Given the description of an element on the screen output the (x, y) to click on. 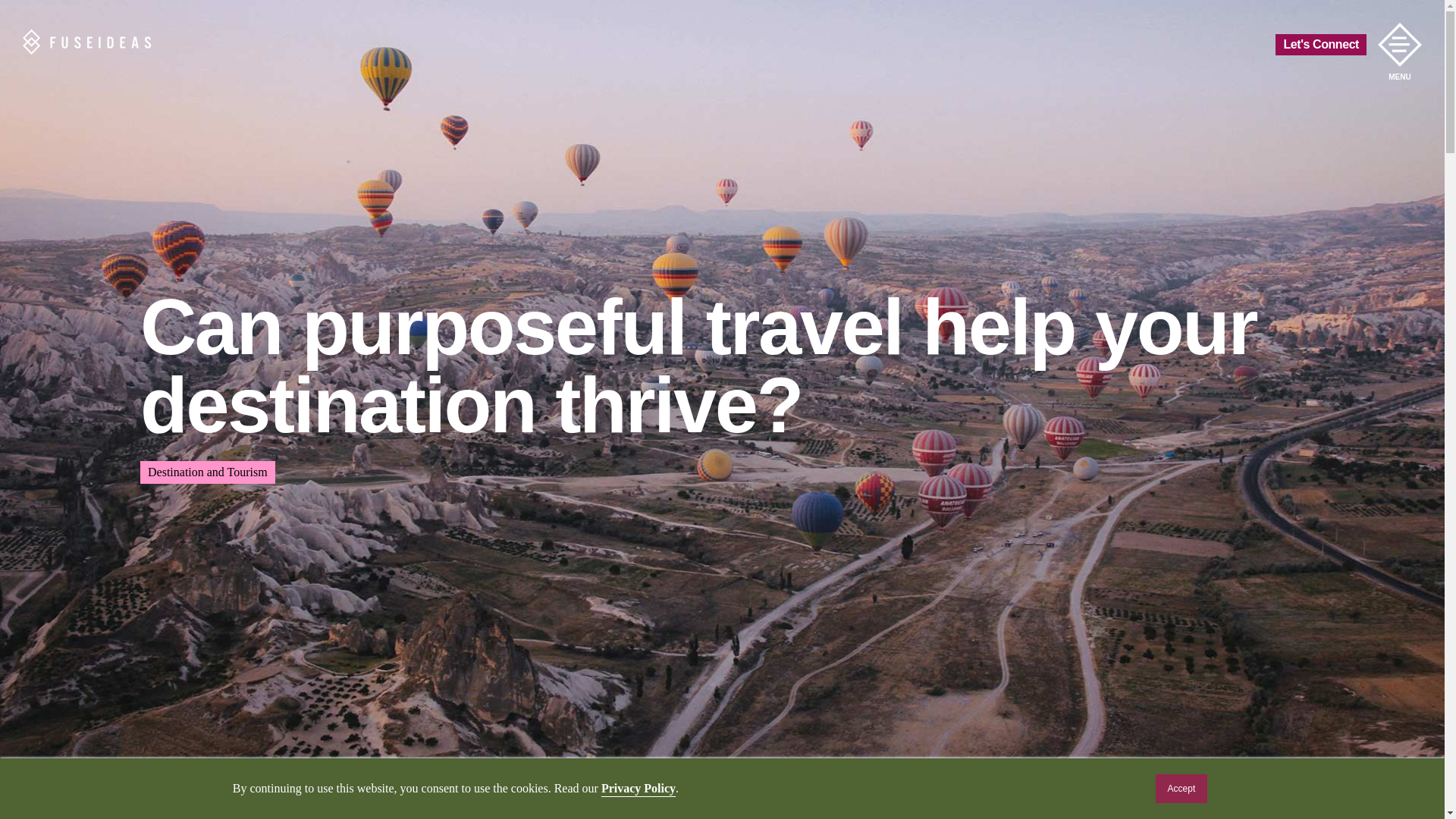
Let's Connect (1321, 44)
Privacy Policy (638, 788)
Destination and Tourism (207, 472)
MENU (1399, 44)
Accept (1182, 788)
